Given the description of an element on the screen output the (x, y) to click on. 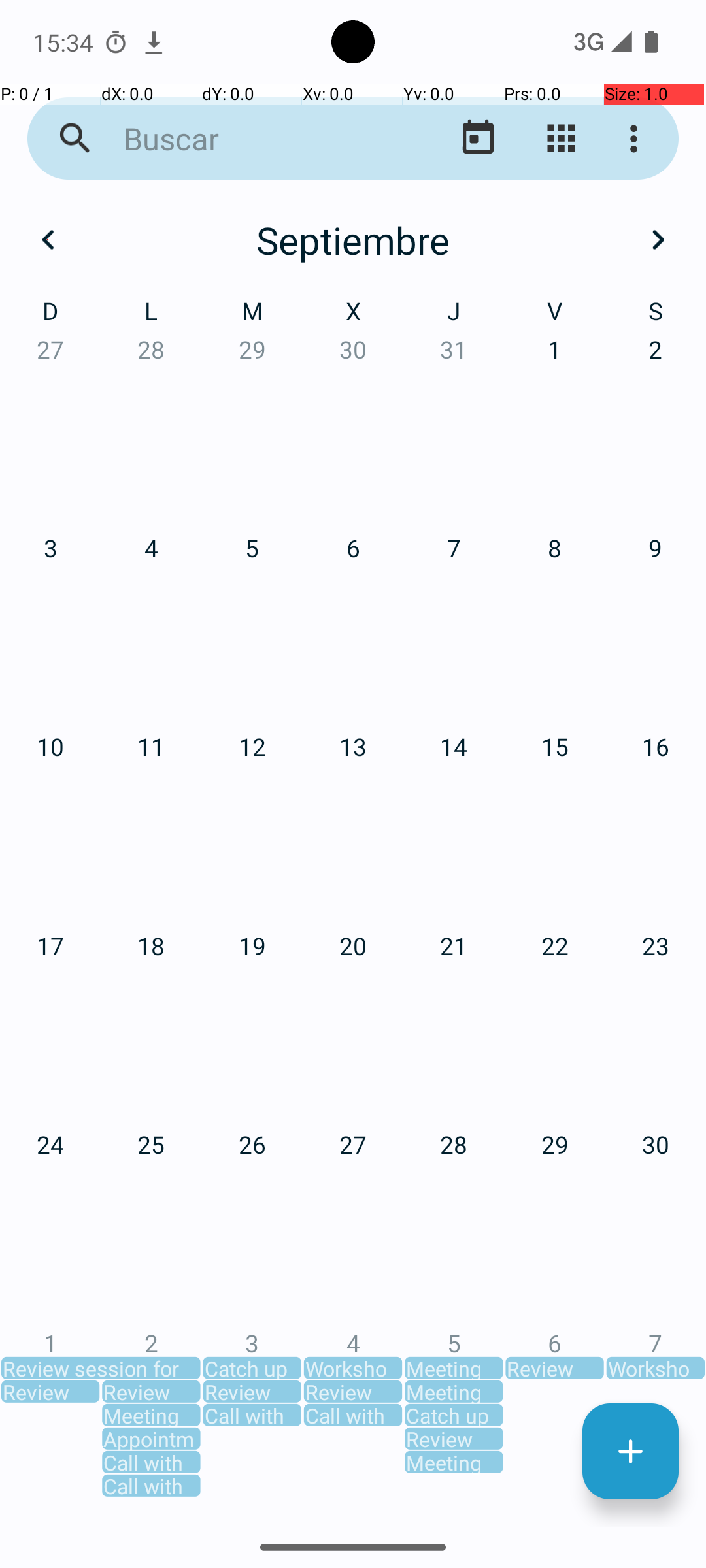
Ir al día de hoy Element type: android.widget.Button (477, 138)
Septiembre Element type: android.widget.TextView (352, 239)
